Given the description of an element on the screen output the (x, y) to click on. 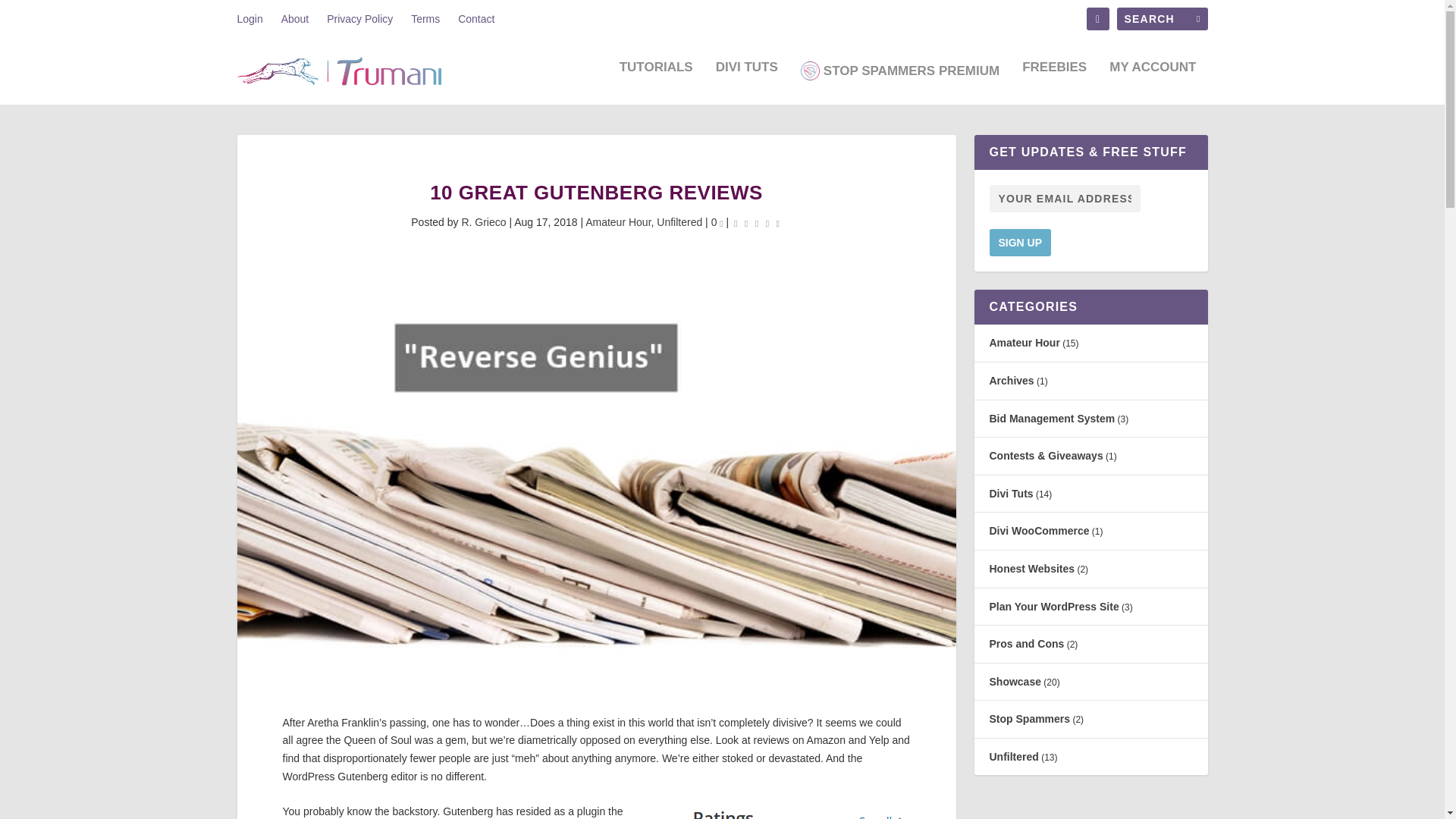
R. Grieco (483, 222)
MY ACCOUNT (1152, 80)
Amateur Hour (617, 222)
Search for: (1161, 18)
Divi Tuts (1010, 493)
Rating: 0.00 (756, 222)
DIVI TUTS (746, 80)
FREEBIES (1054, 80)
Sign up (1019, 242)
Sign up (1019, 242)
Unfiltered (678, 222)
Bid Management System (1051, 418)
Posts by R. Grieco (483, 222)
Amateur Hour (1023, 342)
0 (717, 222)
